Given the description of an element on the screen output the (x, y) to click on. 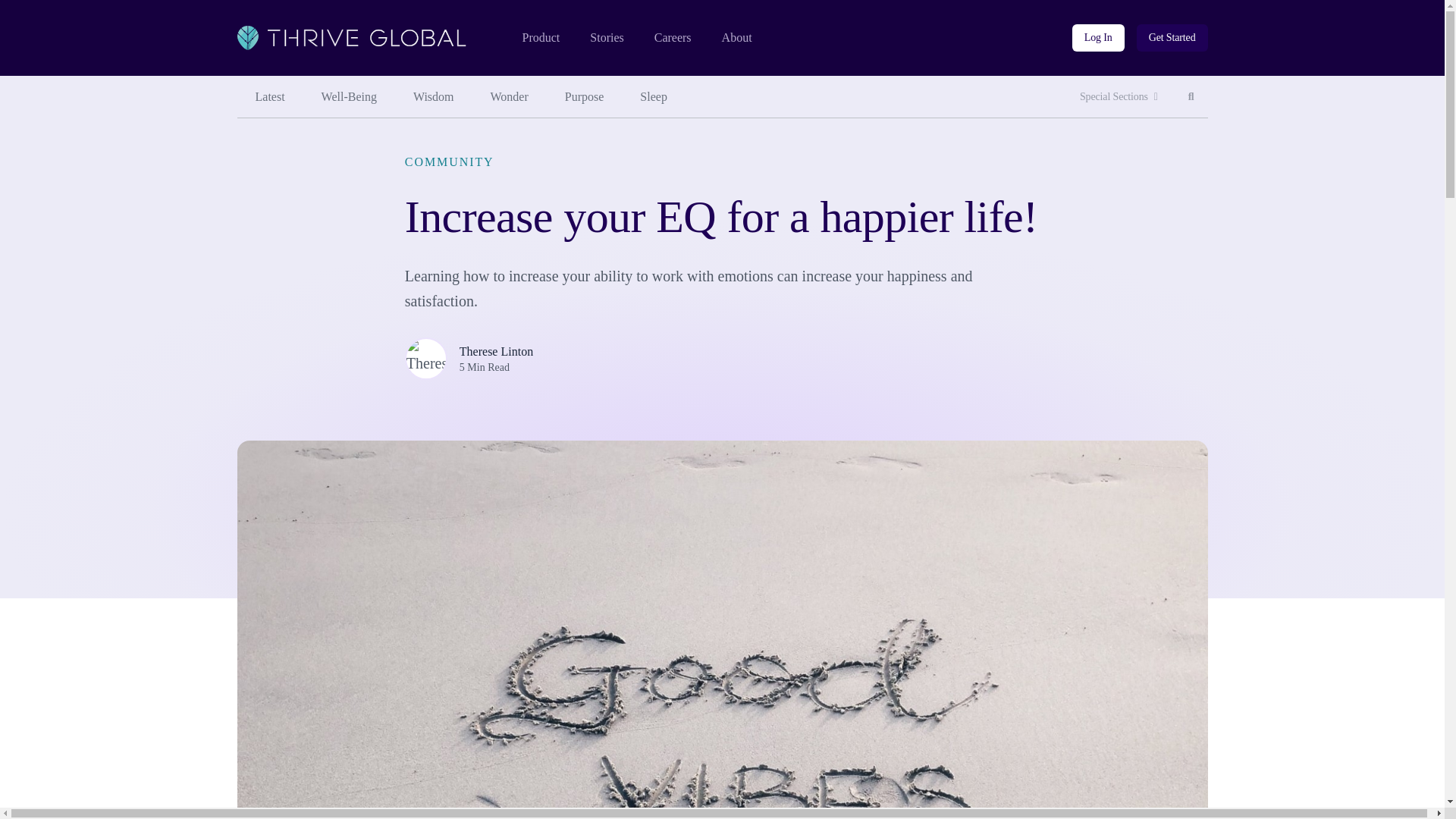
Special Sections (1118, 97)
Get Started (1172, 37)
Wisdom (432, 96)
Careers (672, 37)
Sleep (653, 96)
Product (1191, 97)
Log In (540, 37)
About (1097, 37)
Stories (737, 37)
